Given the description of an element on the screen output the (x, y) to click on. 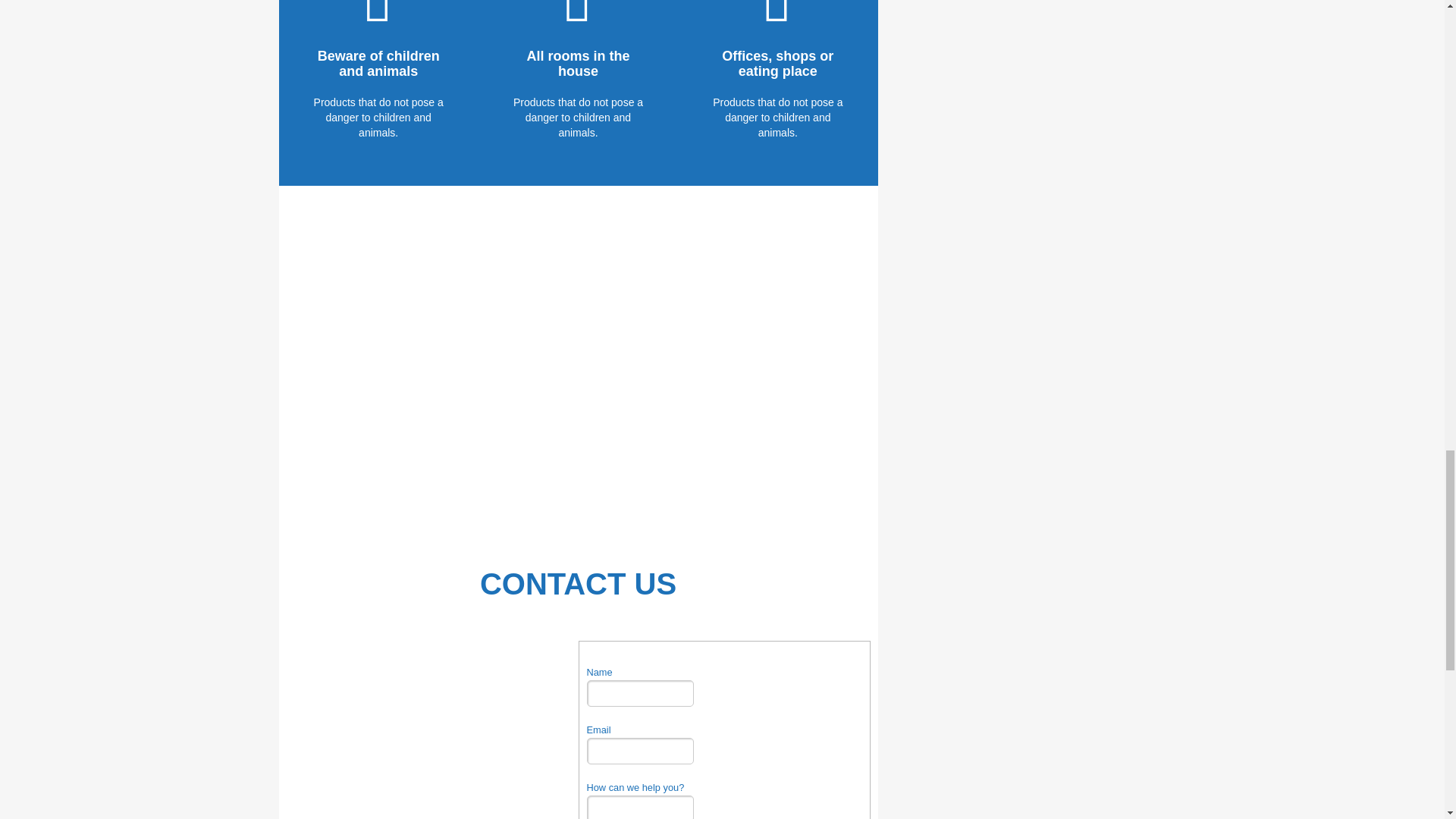
52 Vernal st Everett MA 02149 (432, 727)
